Given the description of an element on the screen output the (x, y) to click on. 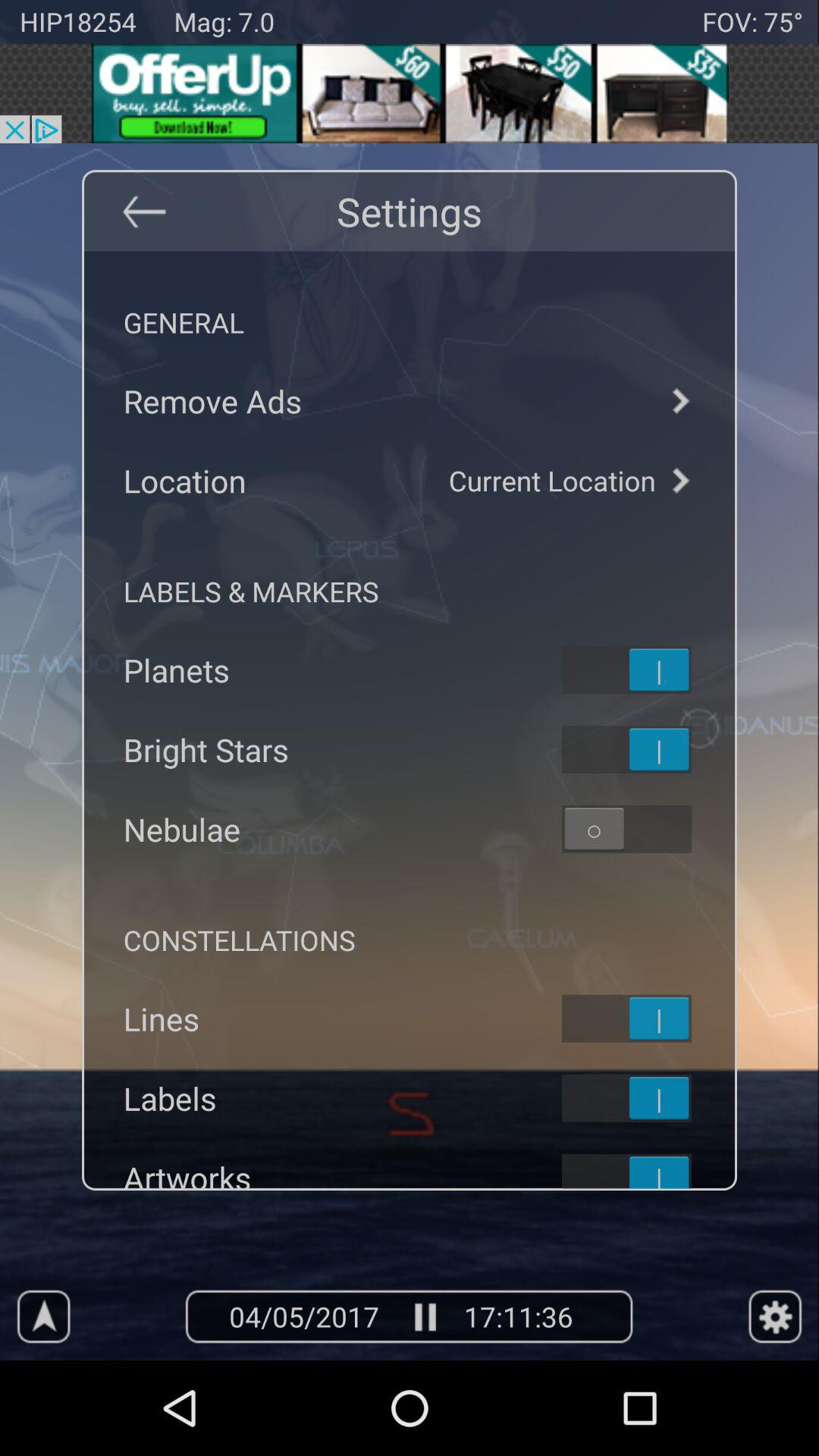
go back (143, 211)
